Given the description of an element on the screen output the (x, y) to click on. 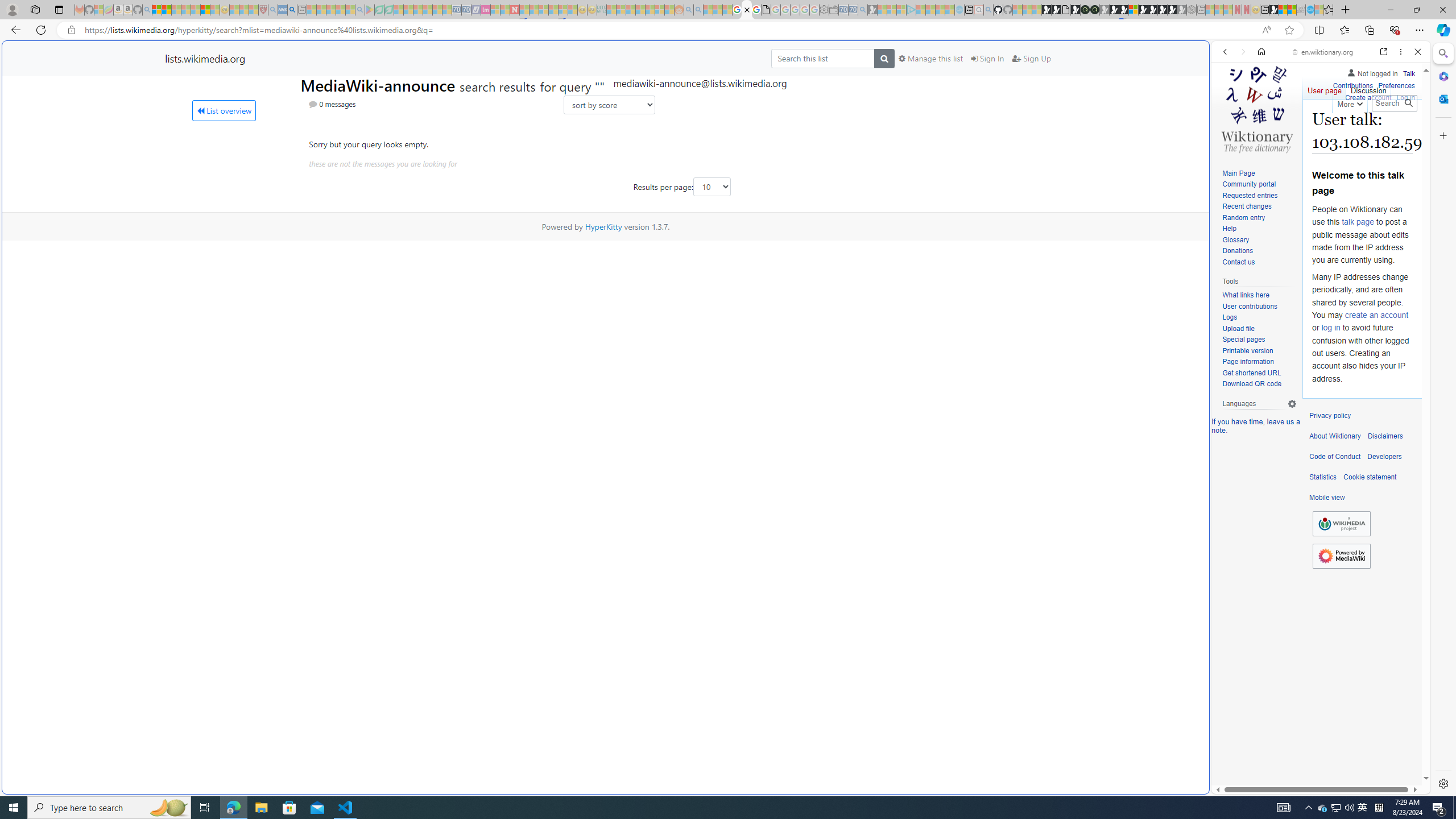
Get shortened URL (1259, 373)
Download QR code (1259, 383)
Sign in to your account (1133, 9)
Home | Sky Blue Bikes - Sky Blue Bikes (1118, 242)
Disclaimers (1385, 436)
Language settings (1292, 403)
Statistics (1322, 477)
Latest Politics News & Archive | Newsweek.com - Sleeping (514, 9)
Go (1408, 102)
Search this list (822, 58)
Kinda Frugal - MSN - Sleeping (649, 9)
